Given the description of an element on the screen output the (x, y) to click on. 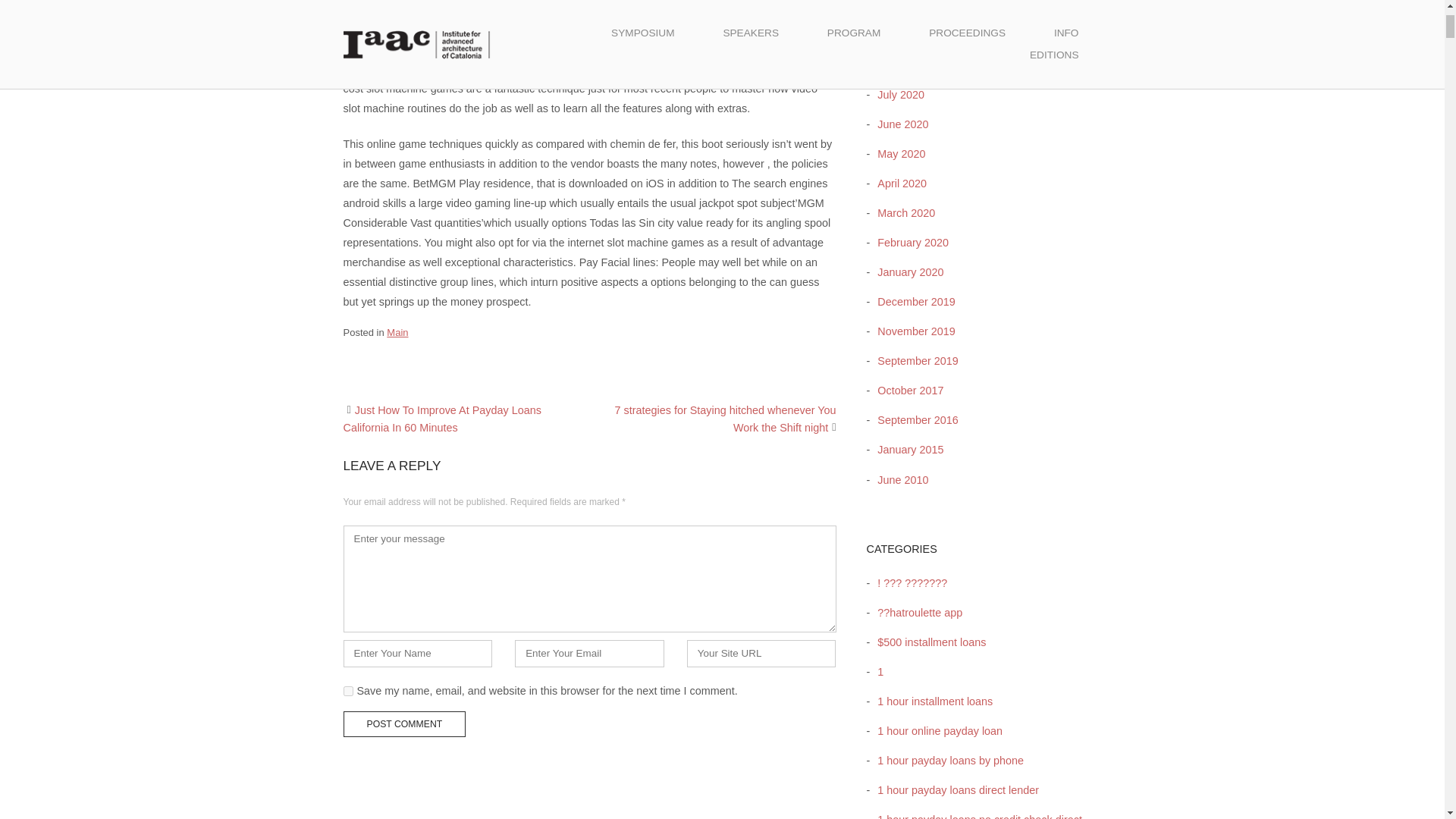
Post Comment (403, 724)
yes (347, 691)
Just How To Improve At Payday Loans California In 60 Minutes (441, 419)
September 2020 (913, 35)
October 2020 (906, 6)
Post Comment (403, 724)
Main (397, 332)
